Given the description of an element on the screen output the (x, y) to click on. 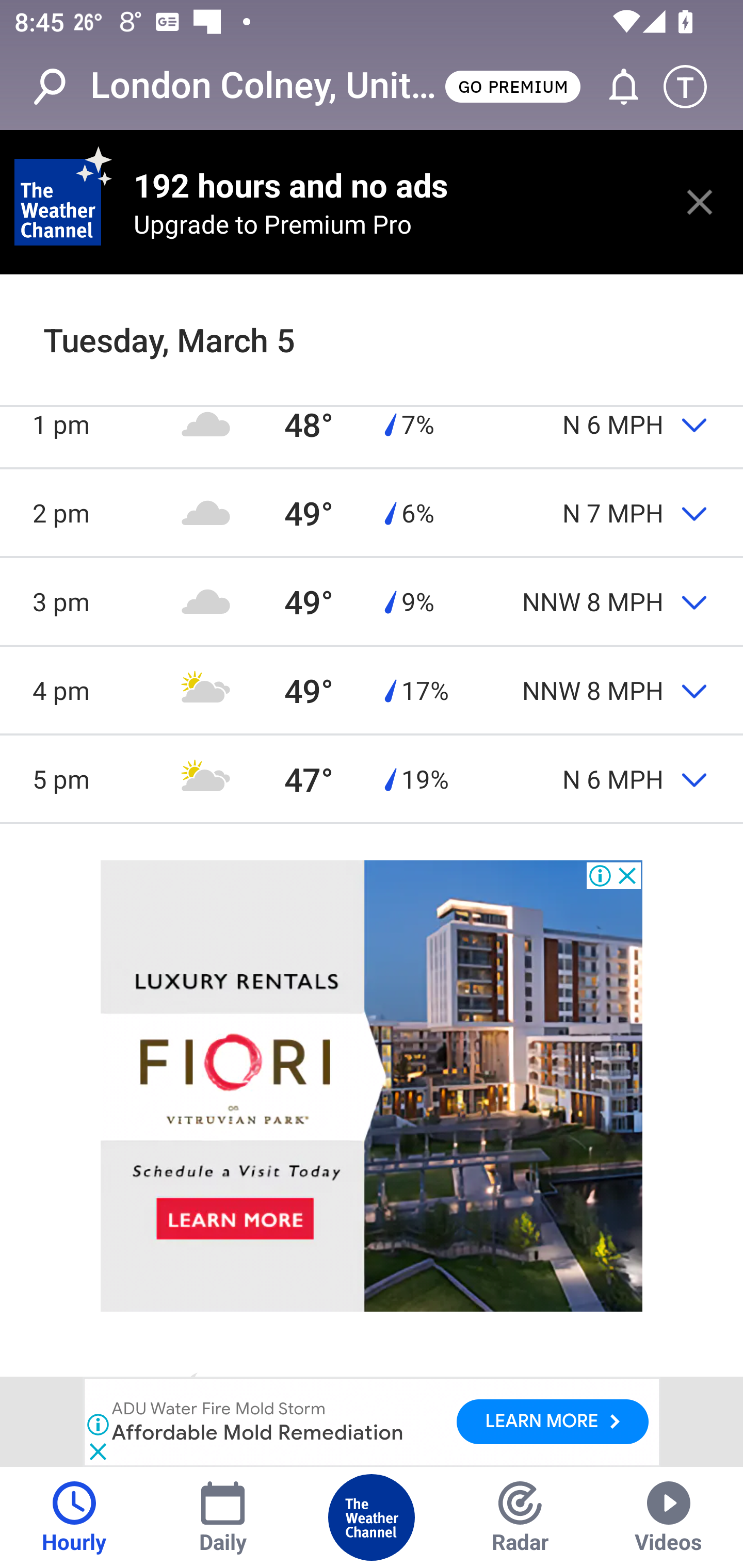
Search (59, 86)
Go to Alerts and Notifications (614, 86)
Setting icon T (694, 86)
London Colney, United Kingdom (265, 85)
GO PREMIUM (512, 85)
close this (699, 202)
12 pm 48° 7% N 5 MPH (371, 334)
1 pm 48° 7% N 6 MPH (371, 424)
2 pm 49° 6% N 7 MPH (371, 512)
3 pm 49° 9% NNW 8 MPH (371, 601)
4 pm 49° 17% NNW 8 MPH (371, 689)
5 pm 47° 19% N 6 MPH (371, 778)
ADU Water Fire Mold Storm (218, 1410)
LEARN MORE (551, 1421)
Affordable Mold Remediation (258, 1432)
Daily Tab Daily (222, 1517)
Home Tab (371, 1517)
Radar Tab Radar (519, 1517)
Videos Tab Videos (668, 1517)
